Given the description of an element on the screen output the (x, y) to click on. 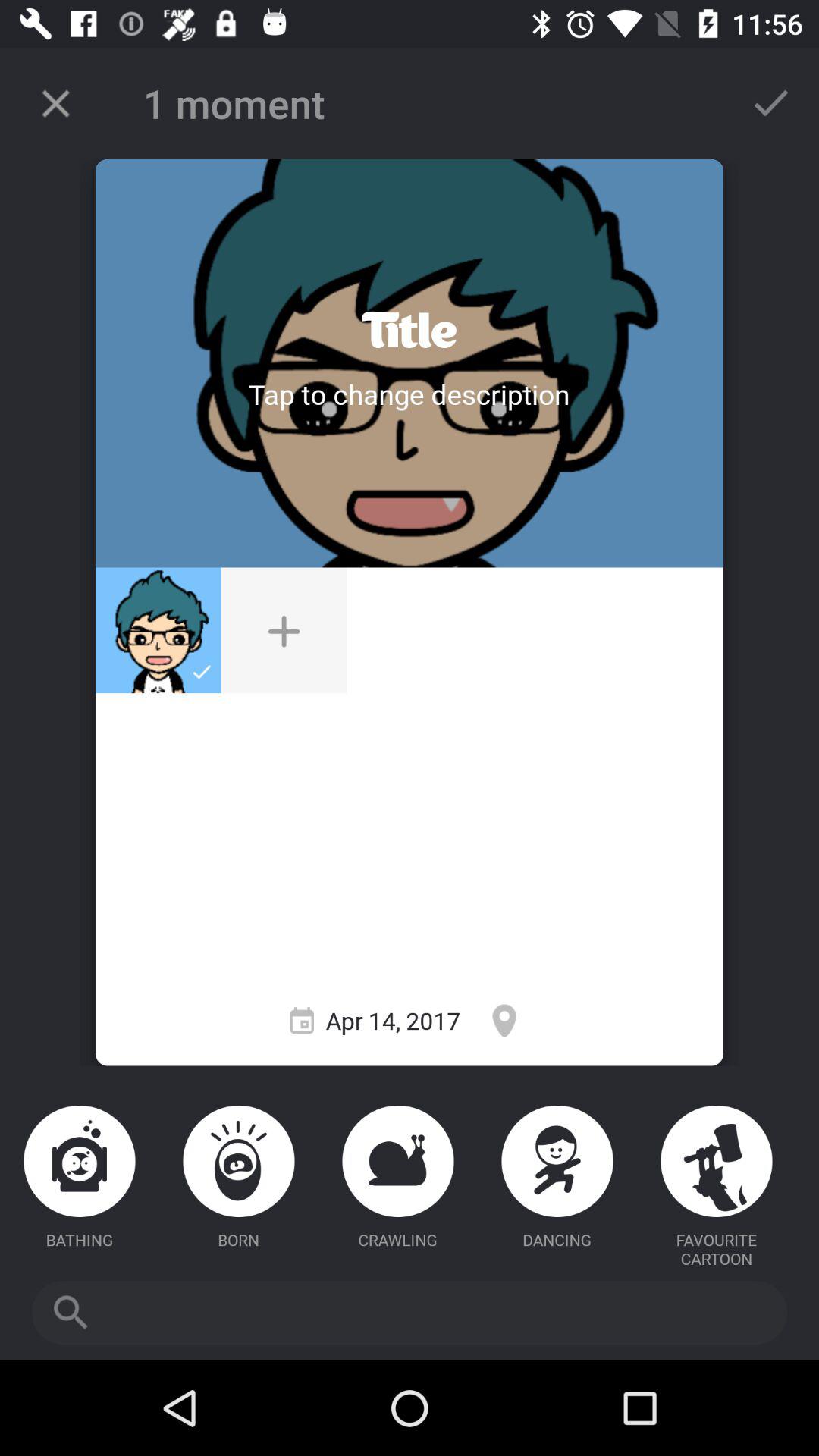
change description (408, 393)
